Given the description of an element on the screen output the (x, y) to click on. 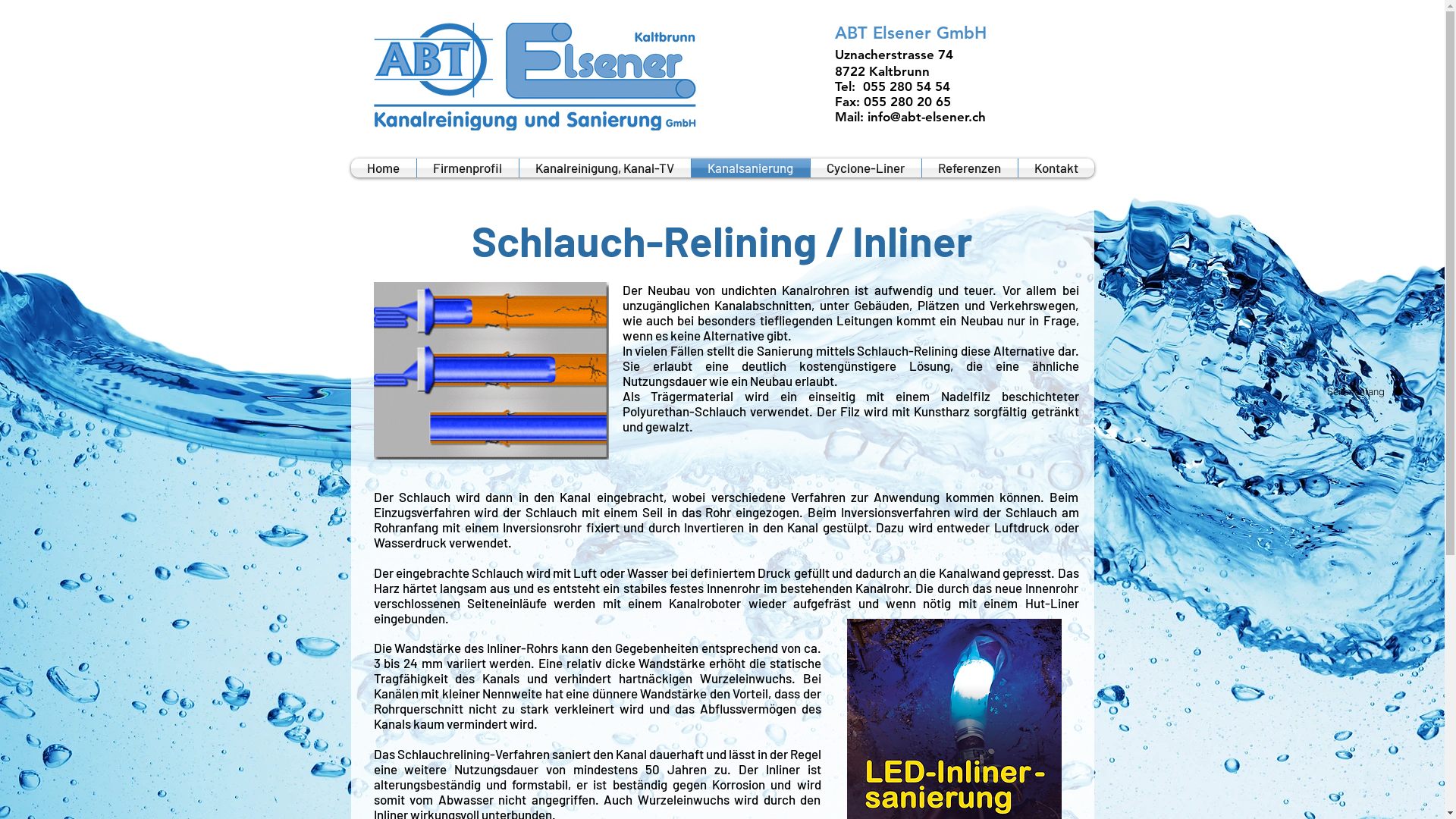
Cyclone-Liner Element type: text (864, 167)
Referenzen Element type: text (969, 167)
Firmenprofil Element type: text (467, 167)
Kanalreinigung, Kanal-TV Element type: text (604, 167)
Home Element type: text (382, 167)
Seitenanfang Element type: text (1363, 391)
Kontakt Element type: text (1055, 167)
Kanalsanierung Element type: text (750, 167)
2 farbig mit text.png Element type: hover (534, 76)
info@abt-elsener.ch Element type: text (926, 116)
inliner_abt.gif Element type: hover (490, 370)
